Given the description of an element on the screen output the (x, y) to click on. 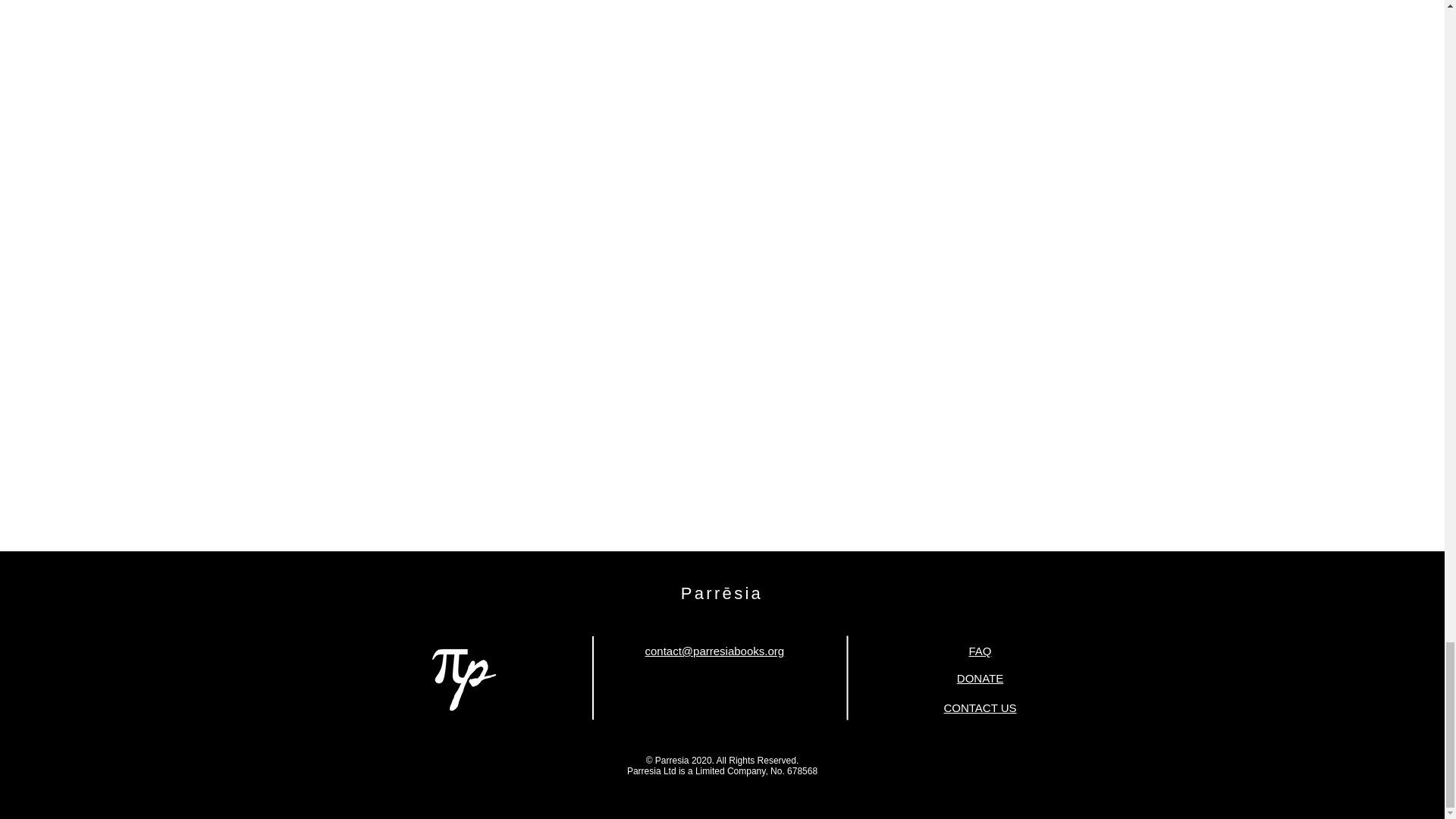
FAQ (979, 650)
DONATE (979, 677)
CONTACT US (979, 707)
